Given the description of an element on the screen output the (x, y) to click on. 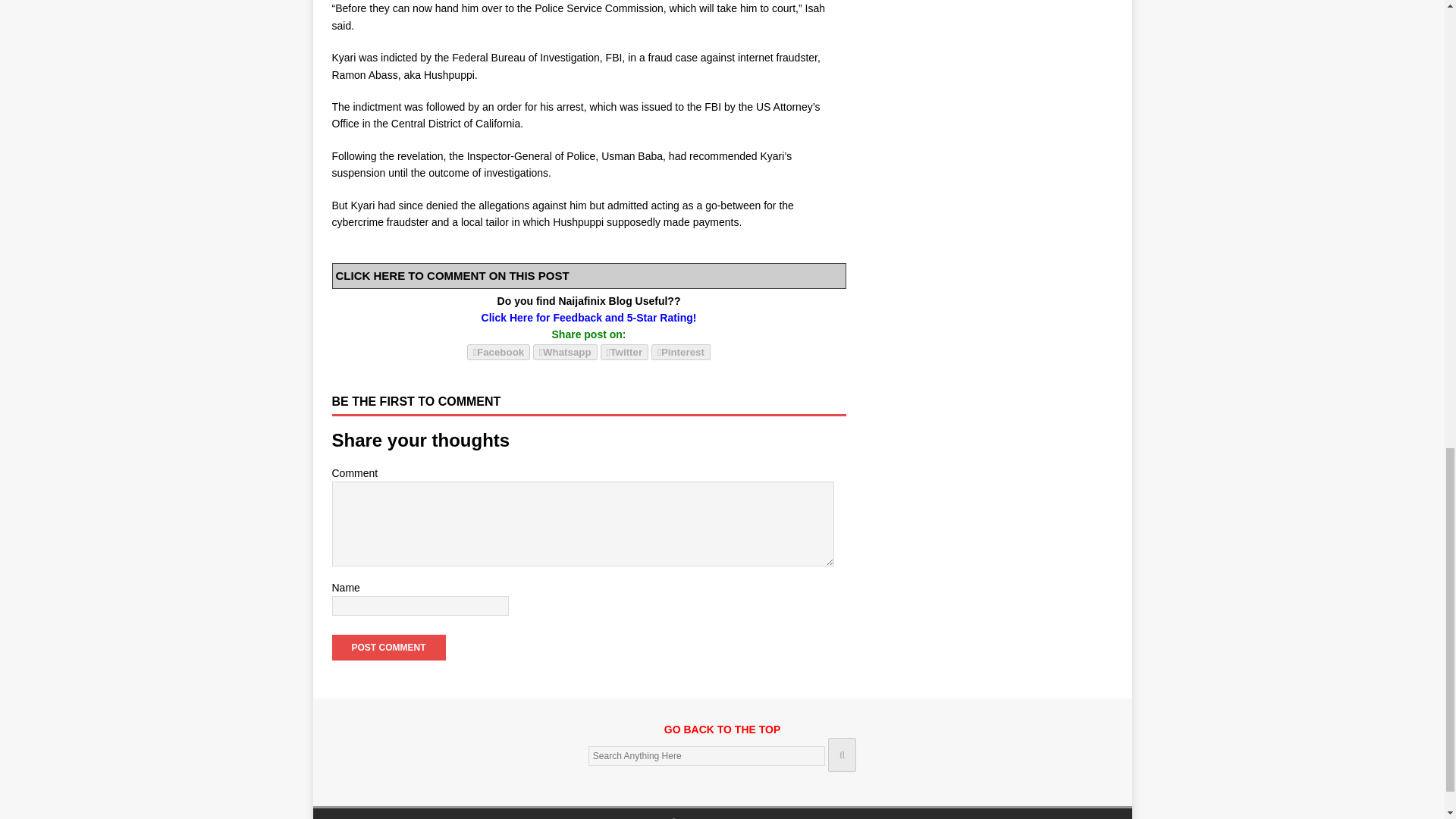
Twitter (624, 351)
Facebook (498, 351)
GO BACK TO THE TOP (722, 736)
Post Comment (388, 647)
Whatsapp (564, 351)
Twitter (624, 351)
Whatsapp (564, 351)
Click Here for Feedback and 5-Star Rating! (589, 317)
Facebook (498, 351)
Post Comment (388, 647)
CLICK HERE TO COMMENT ON THIS POST (451, 275)
Pinterest (680, 351)
Pinterest (680, 351)
